Given the description of an element on the screen output the (x, y) to click on. 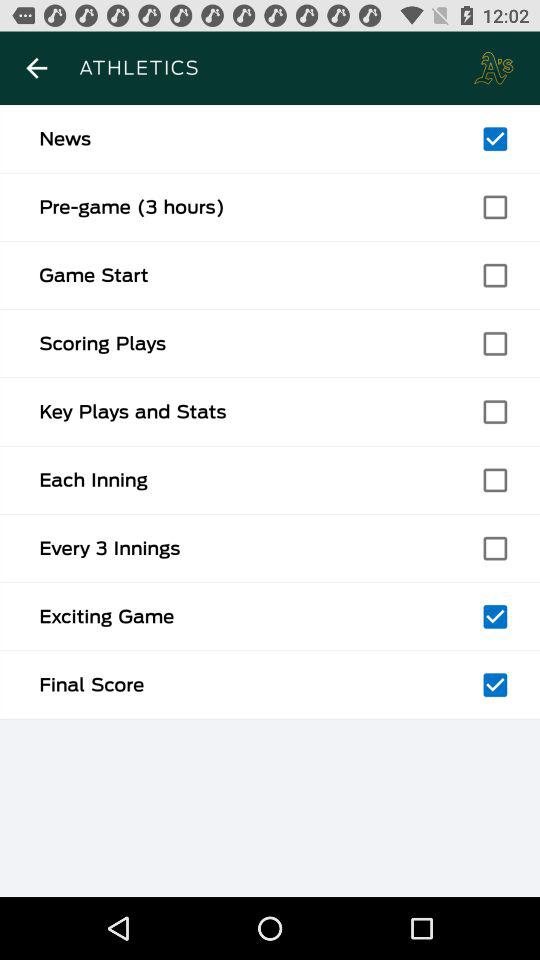
check box option (495, 275)
